Given the description of an element on the screen output the (x, y) to click on. 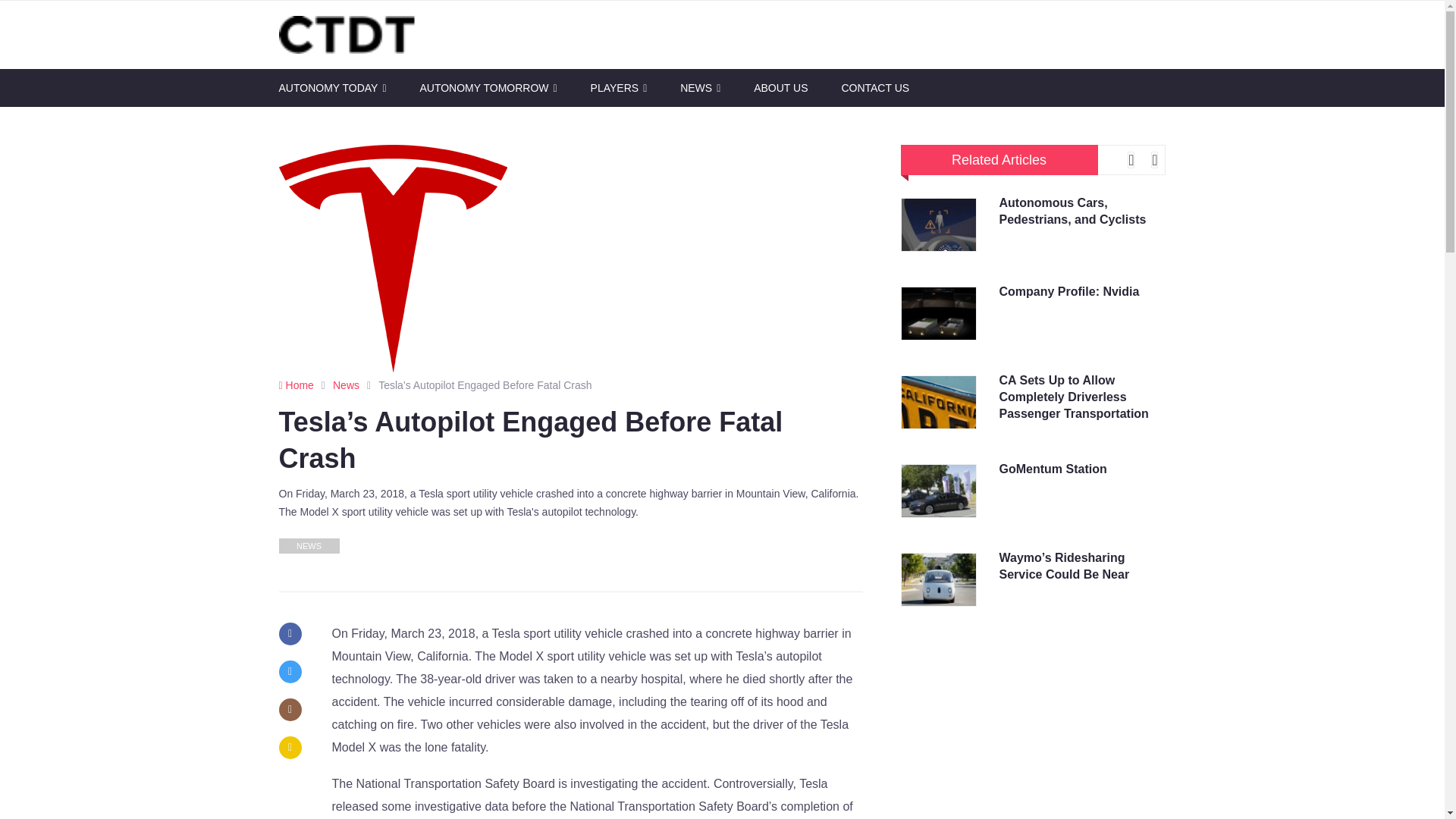
Twitter (290, 671)
NEWS (699, 87)
AUTONOMY TOMORROW (487, 87)
NEWS (699, 87)
PLAYERS (619, 87)
AUTONOMY TODAY (333, 87)
ABOUT US (781, 87)
CONTACT US (874, 87)
PLAYERS (619, 87)
AUTONOMY TODAY (333, 87)
